Given the description of an element on the screen output the (x, y) to click on. 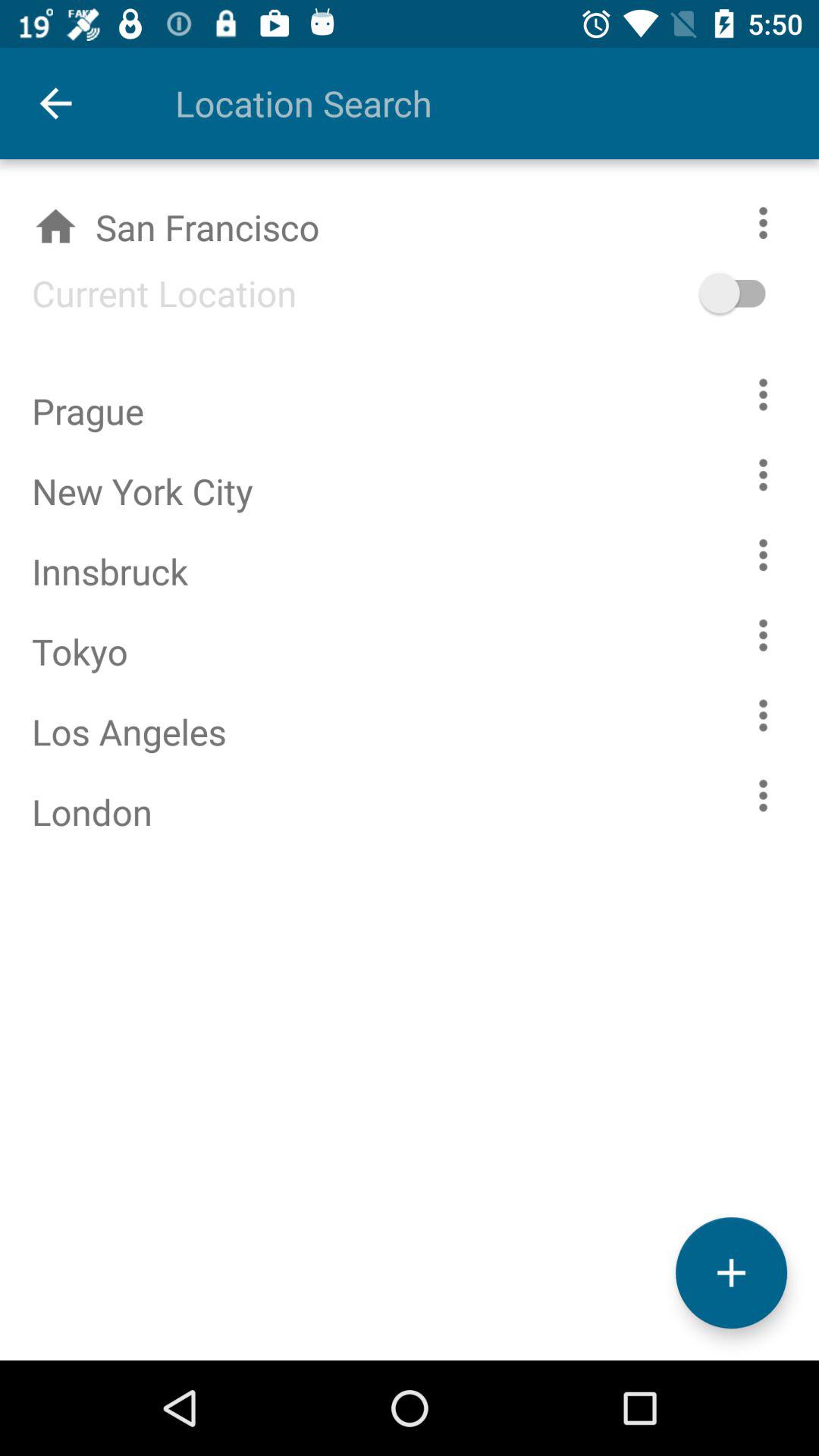
open the icon at the bottom right corner (731, 1272)
